Given the description of an element on the screen output the (x, y) to click on. 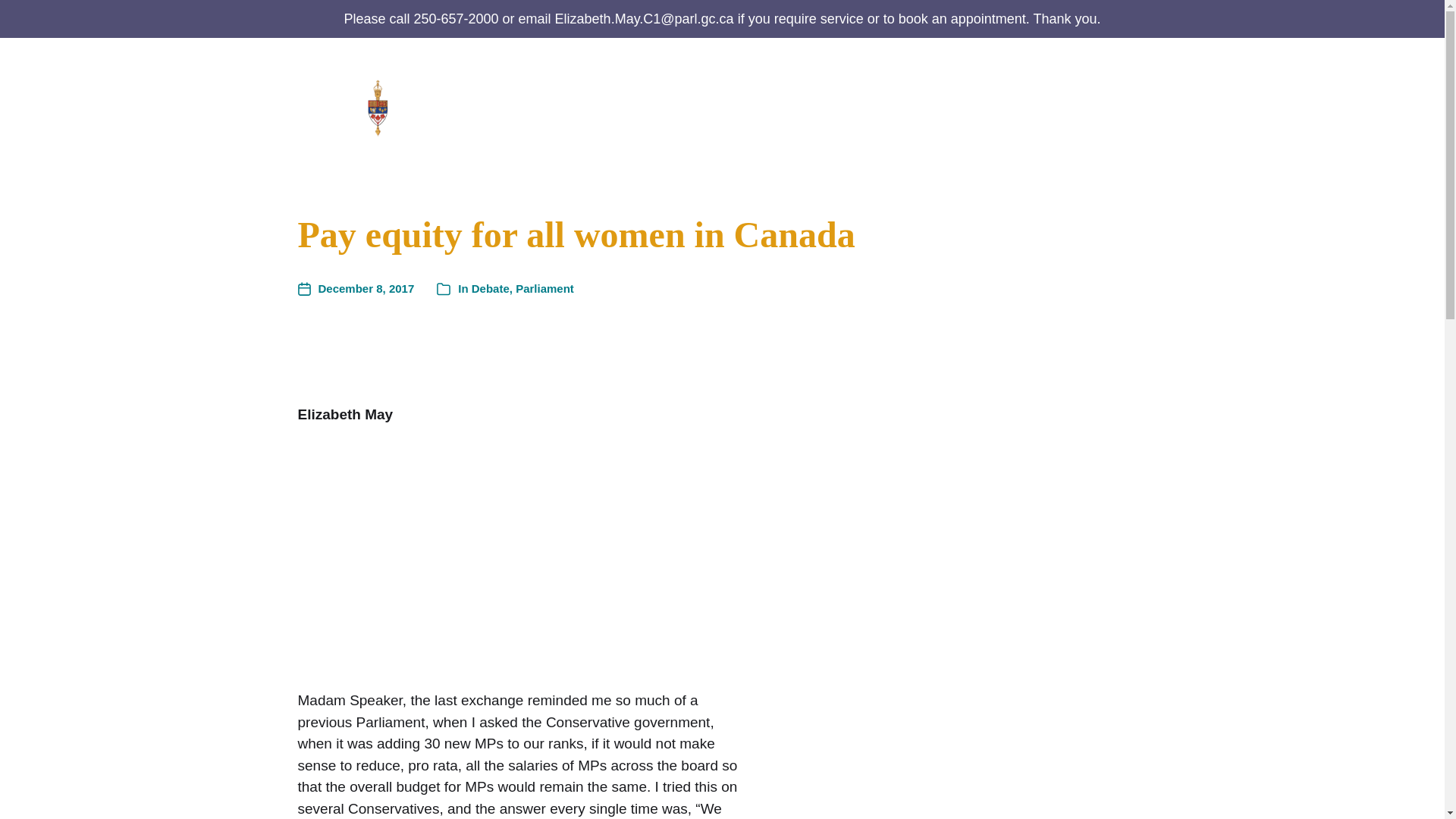
Can We Help? (722, 106)
EN (1136, 90)
Parliament (936, 106)
Publications (844, 106)
About (638, 106)
Issues (1028, 106)
FR (1137, 118)
